Given the description of an element on the screen output the (x, y) to click on. 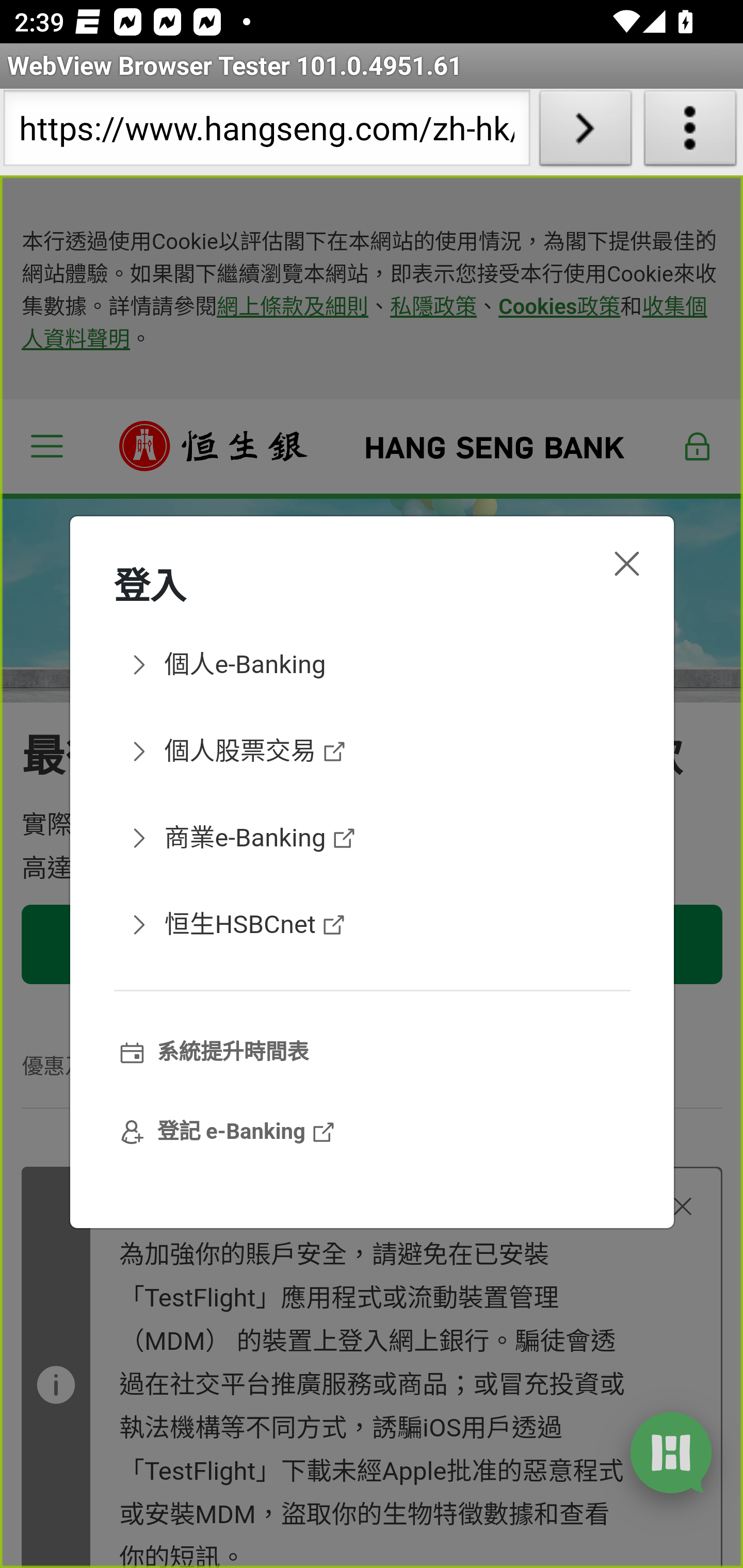
https://www.hangseng.com/zh-hk/home/ (266, 132)
Load URL (585, 132)
About WebView (690, 132)
關閉 (626, 563)
個人e-Banking (372, 664)
個人股票交易 (於新視窗開啟) 個人股票交易 (372, 750)
商業e-Banking (於新視窗開啟) 商業e-Banking (372, 836)
恒生HSBCnet (於新視窗開啟) 恒生HSBCnet (372, 924)
系統提升時間表 (372, 1053)
登記 e-Banking (於新視窗開啟) 登記 e-Banking (372, 1132)
